Given the description of an element on the screen output the (x, y) to click on. 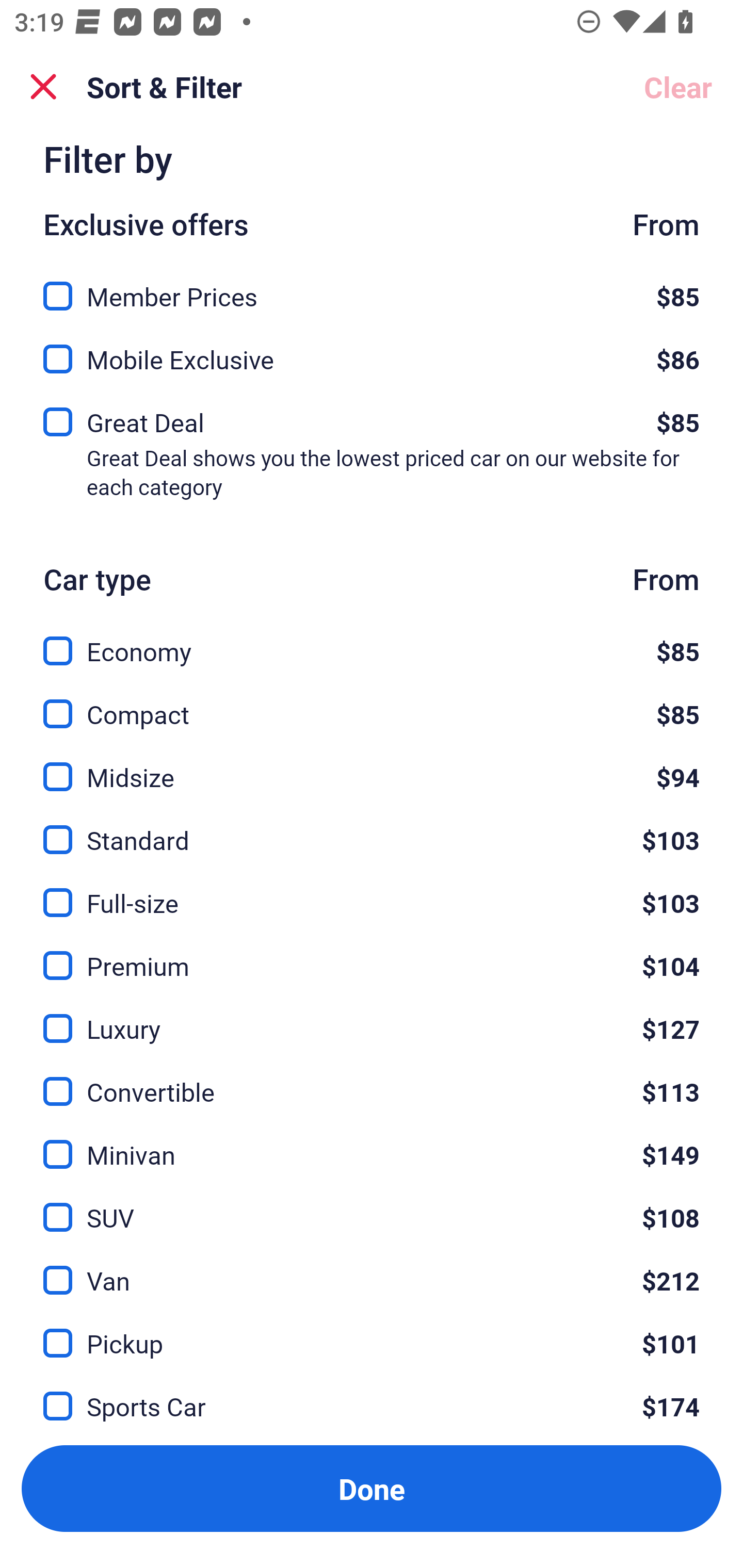
Close Sort and Filter (43, 86)
Clear (677, 86)
Member Prices, $85 Member Prices $85 (371, 285)
Mobile Exclusive, $86 Mobile Exclusive $86 (371, 353)
Economy, $85 Economy $85 (371, 639)
Compact, $85 Compact $85 (371, 702)
Midsize, $94 Midsize $94 (371, 764)
Standard, $103 Standard $103 (371, 827)
Full-size, $103 Full-size $103 (371, 890)
Premium, $104 Premium $104 (371, 953)
Luxury, $127 Luxury $127 (371, 1017)
Convertible, $113 Convertible $113 (371, 1079)
Minivan, $149 Minivan $149 (371, 1142)
SUV, $108 SUV $108 (371, 1205)
Van, $212 Van $212 (371, 1268)
Pickup, $101 Pickup $101 (371, 1330)
Sports Car, $174 Sports Car $174 (371, 1394)
Apply and close Sort and Filter Done (371, 1488)
